Given the description of an element on the screen output the (x, y) to click on. 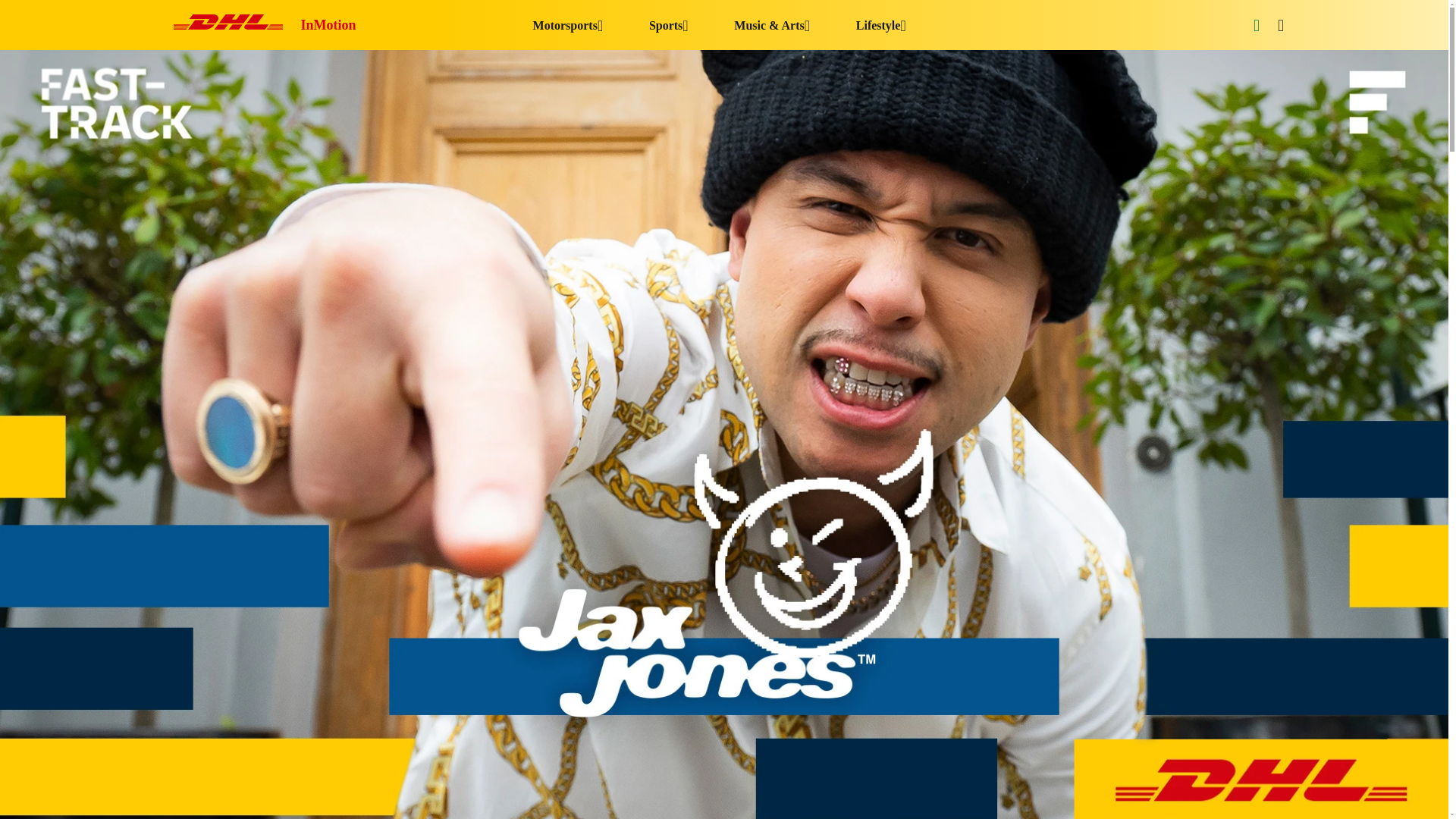
InMotion (264, 25)
DHL InMotion (264, 25)
